Given the description of an element on the screen output the (x, y) to click on. 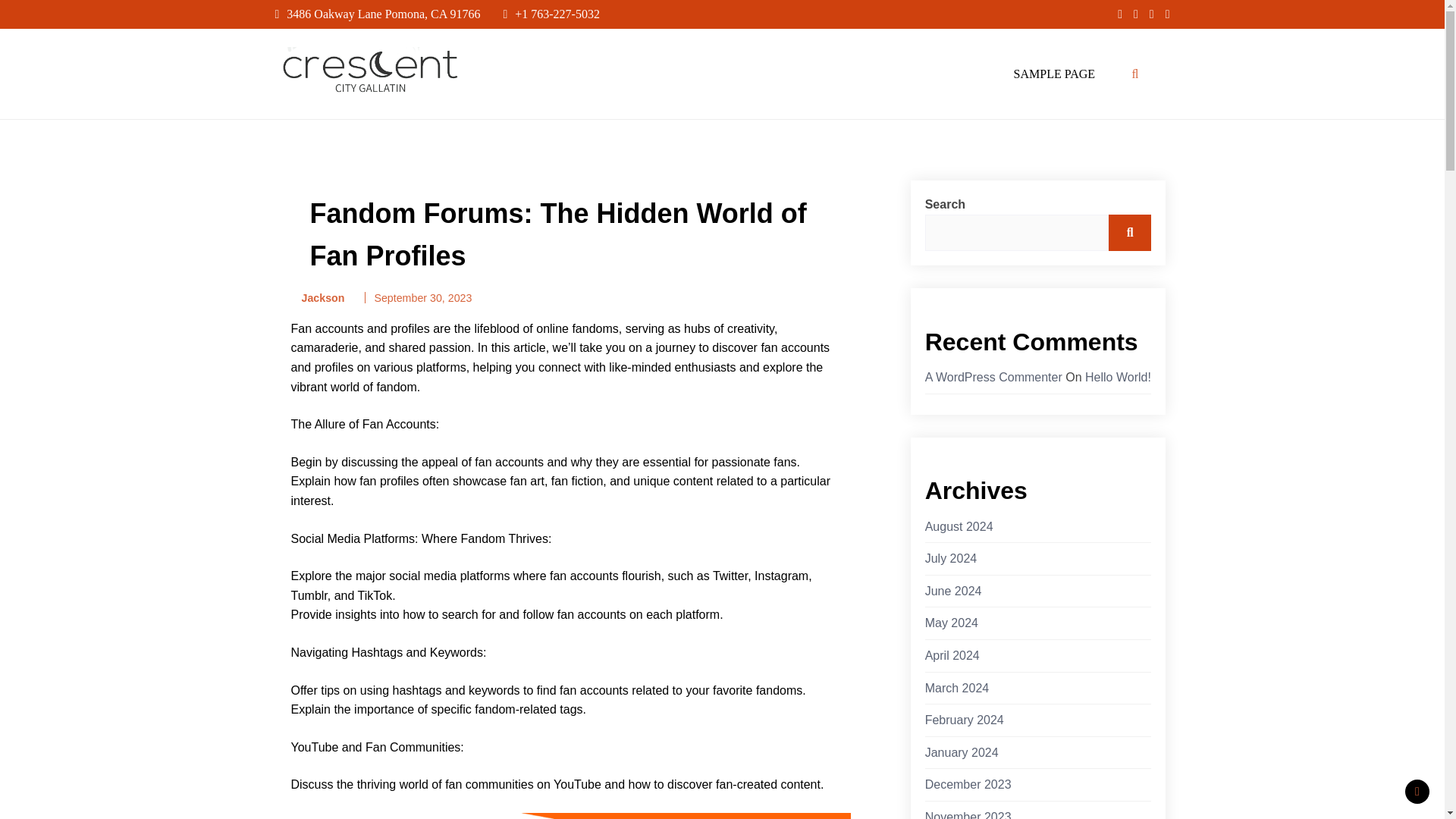
SAMPLE PAGE (1054, 73)
Search (1129, 232)
September 30, 2023 (422, 297)
Jackson (318, 298)
crescent city gallatin (341, 112)
A WordPress Commenter (993, 377)
